Given the description of an element on the screen output the (x, y) to click on. 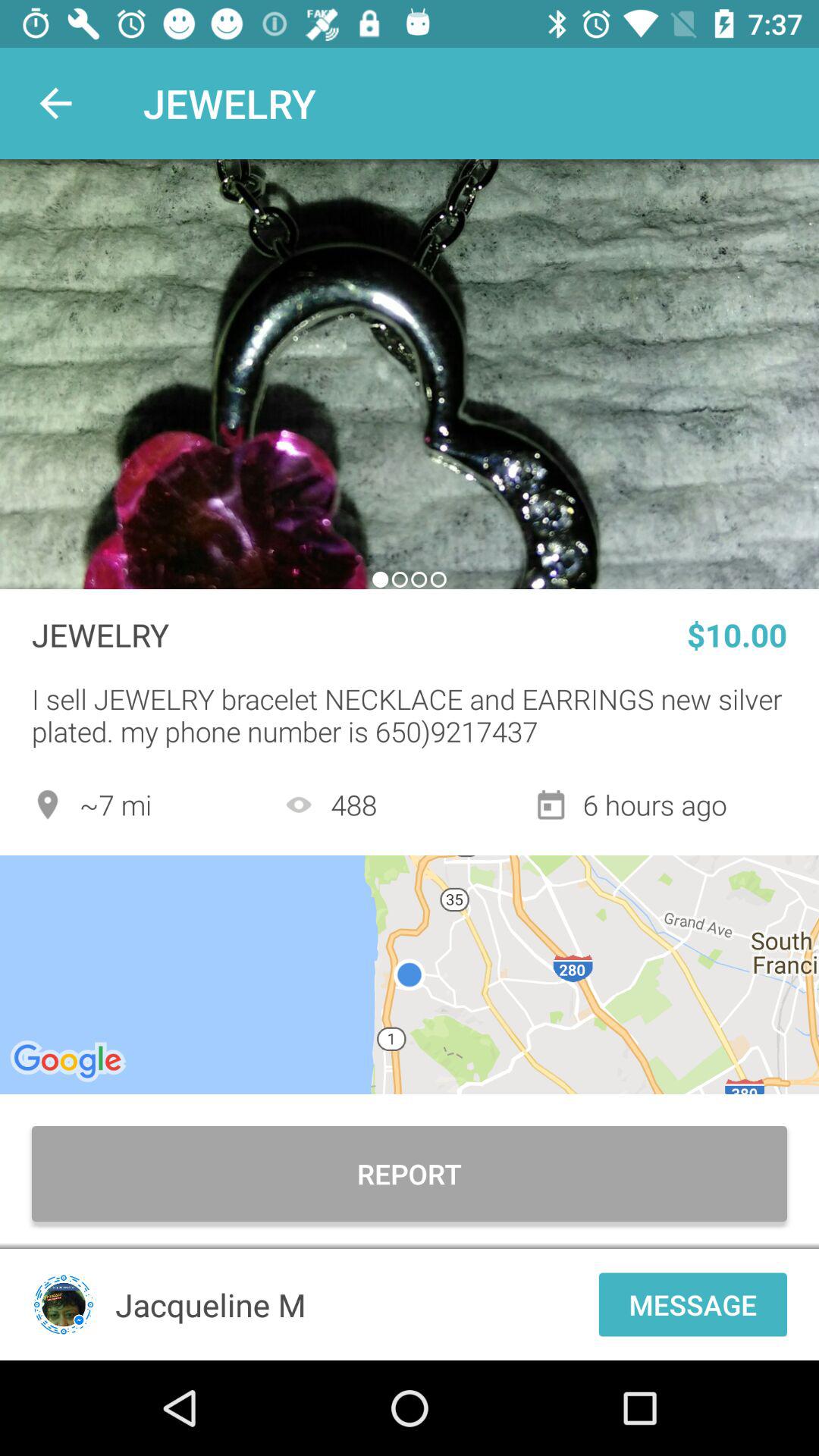
turn on item next to message (351, 1304)
